Given the description of an element on the screen output the (x, y) to click on. 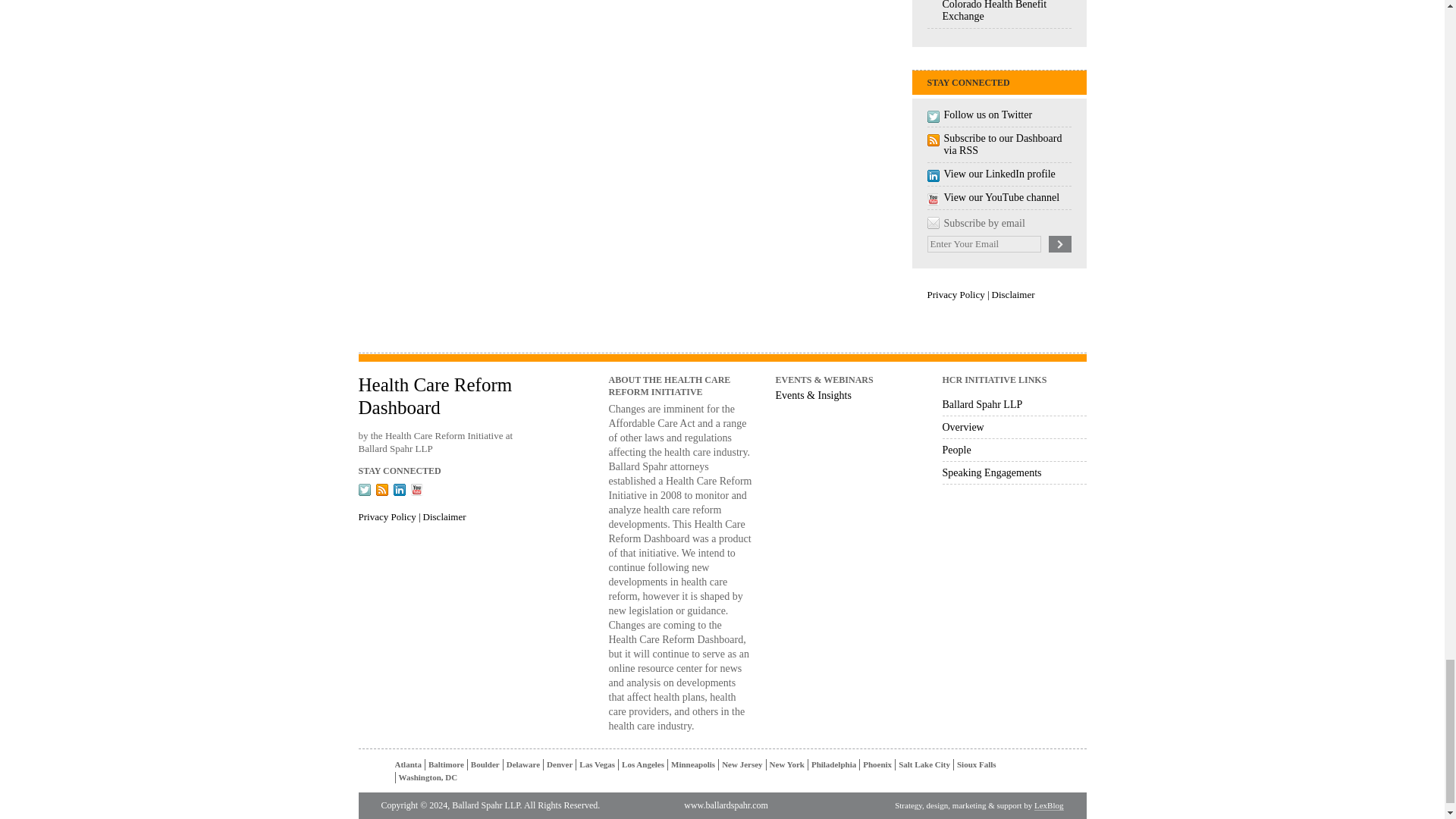
youtube (416, 489)
linkedin (398, 489)
twitter (363, 489)
rss (381, 489)
